Given the description of an element on the screen output the (x, y) to click on. 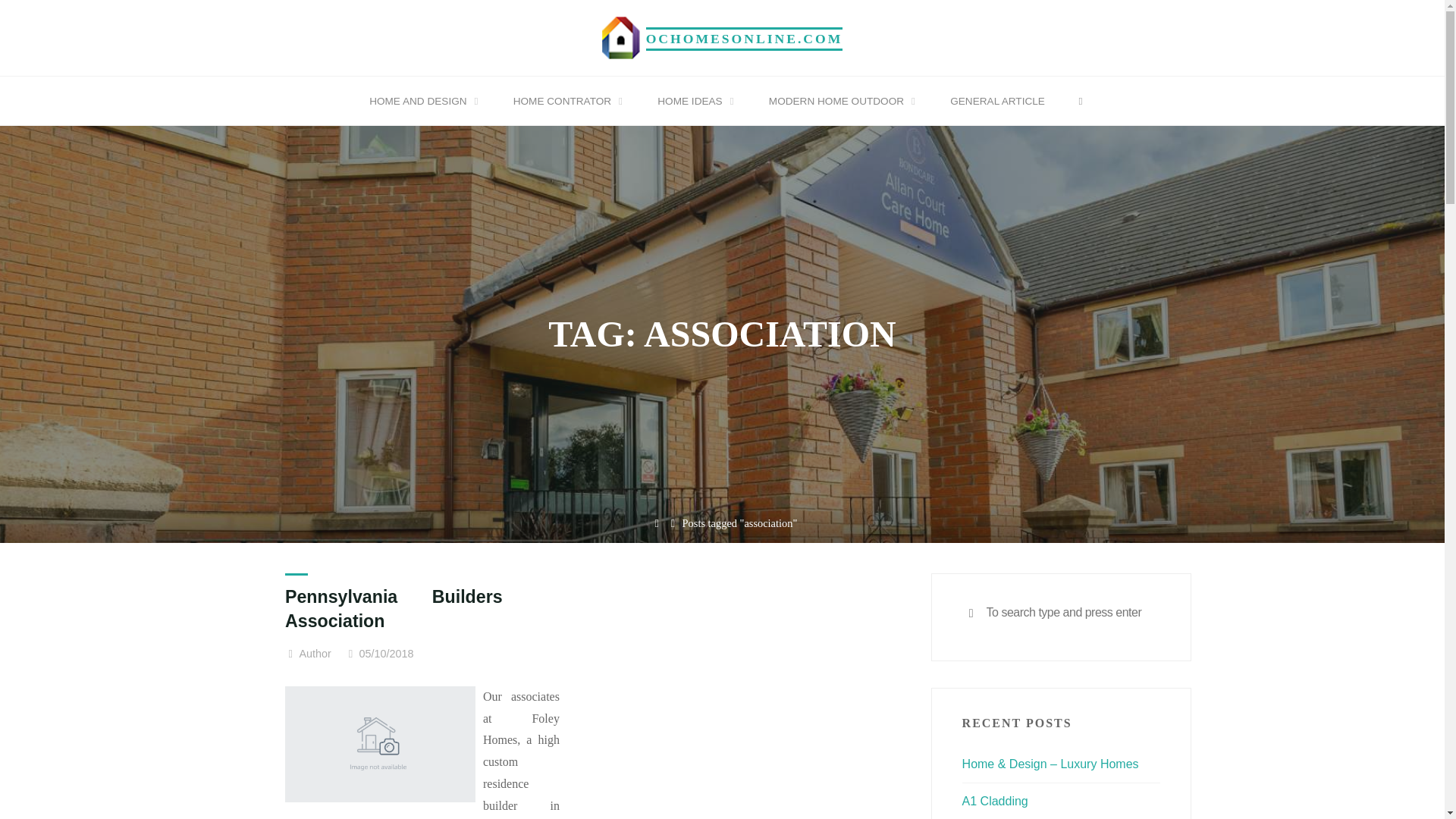
HOME AND DESIGN (421, 101)
OCHOMESONLINE.COM (744, 38)
ochomesonline.com (621, 36)
Improving Home Value (744, 38)
View all posts by Author (314, 653)
Home (656, 522)
